Given the description of an element on the screen output the (x, y) to click on. 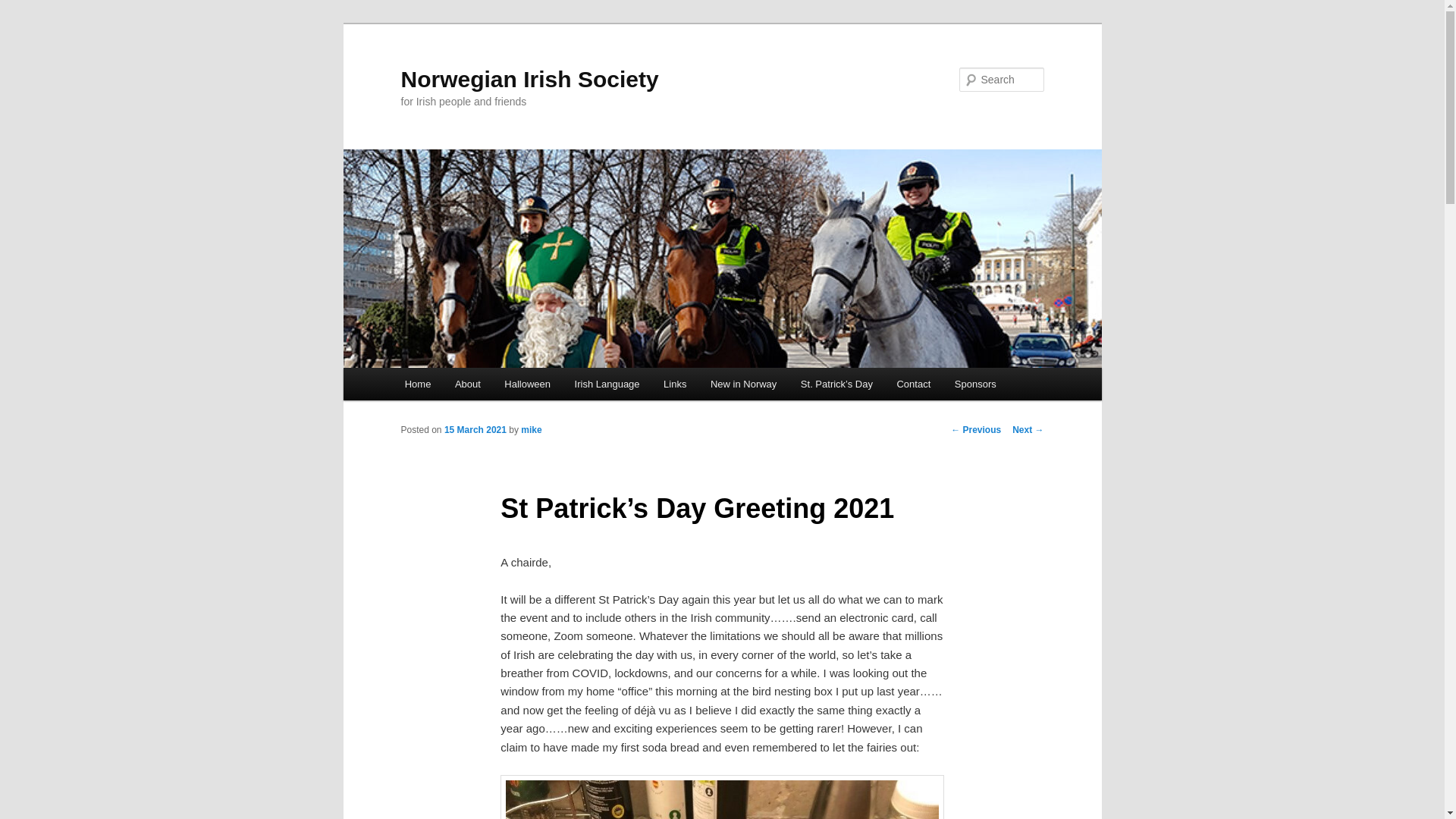
Sponsors (974, 383)
New in Norway (743, 383)
Irish Language (607, 383)
mike (531, 429)
Contact (913, 383)
Links (674, 383)
Norwegian Irish Society (529, 78)
About (467, 383)
15 March 2021 (475, 429)
Search (24, 8)
